Given the description of an element on the screen output the (x, y) to click on. 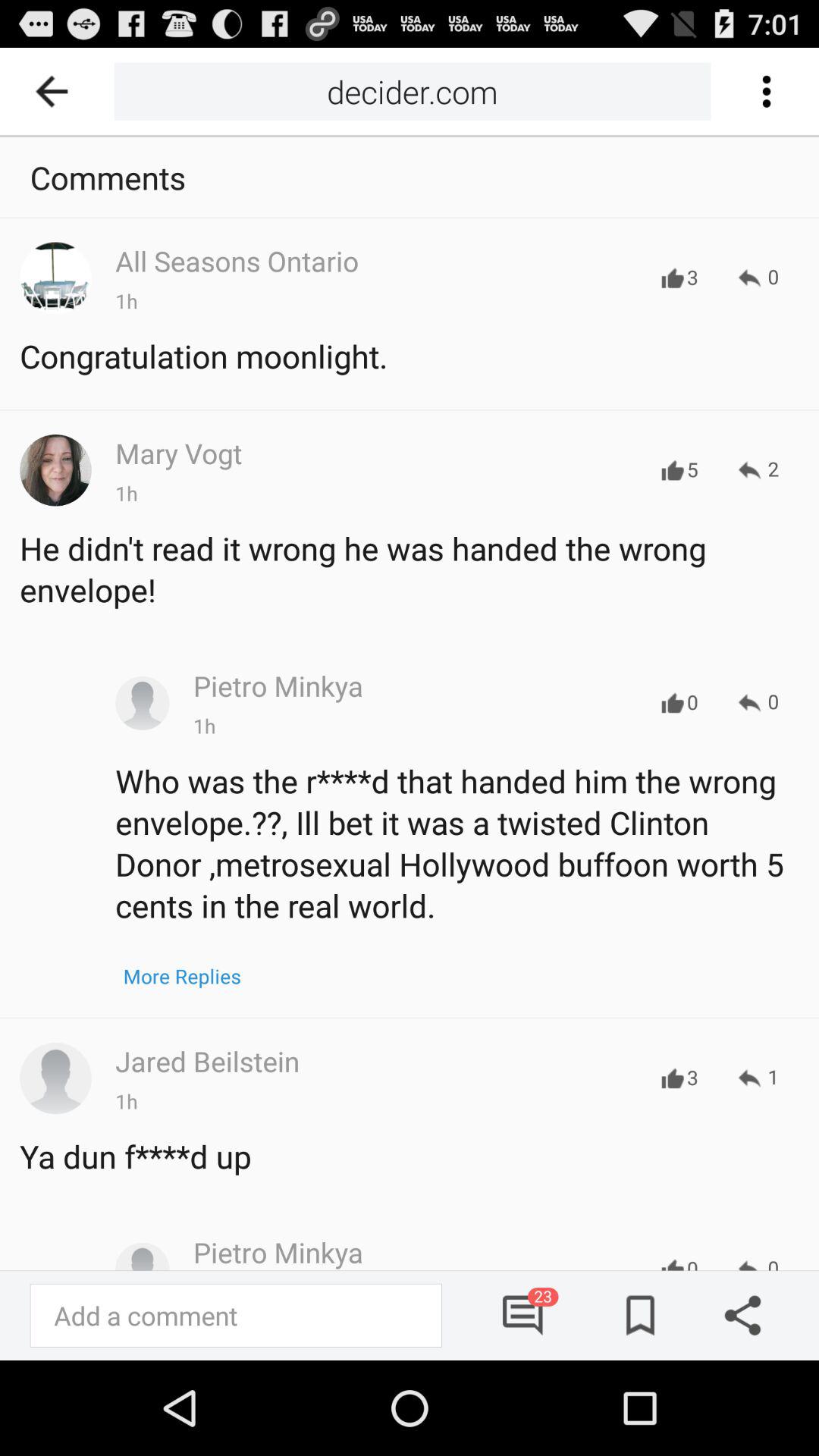
view profile (142, 703)
